Given the description of an element on the screen output the (x, y) to click on. 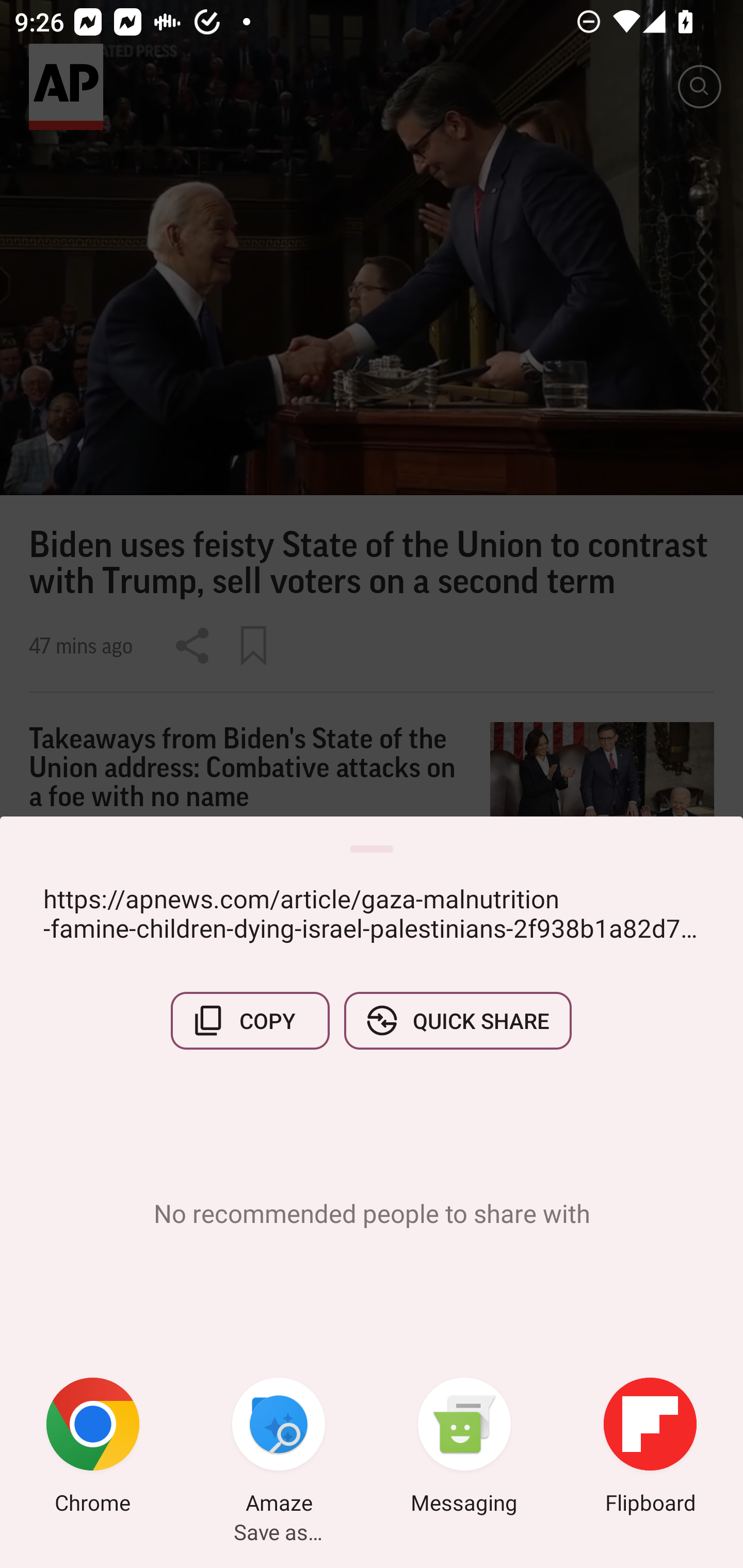
COPY (249, 1020)
QUICK SHARE (457, 1020)
Chrome (92, 1448)
Amaze Save as… (278, 1448)
Messaging (464, 1448)
Flipboard (650, 1448)
